Given the description of an element on the screen output the (x, y) to click on. 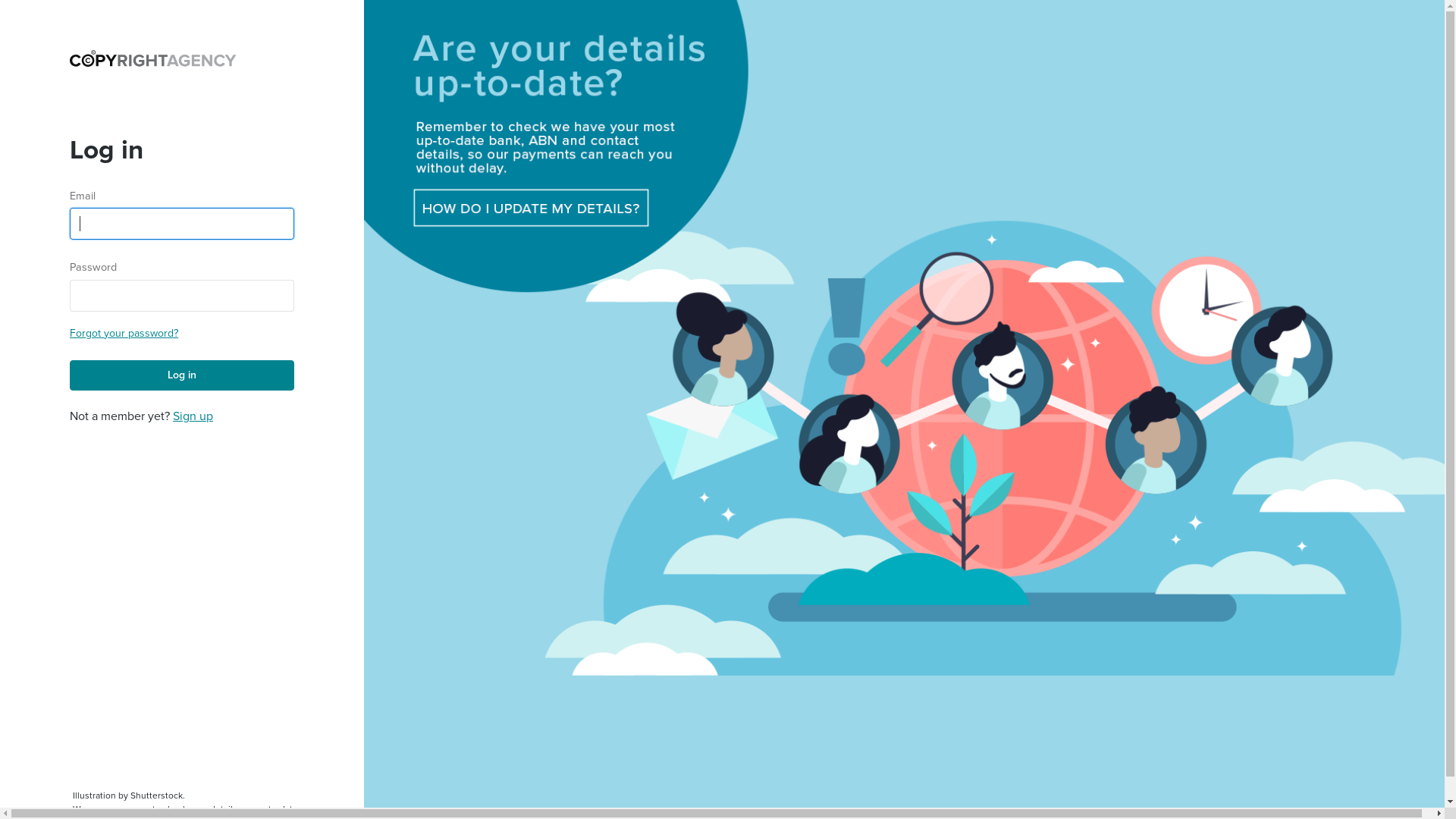
Forgot your password? Element type: text (123, 332)
Sign up Element type: text (192, 415)
Log in Element type: text (181, 375)
